Given the description of an element on the screen output the (x, y) to click on. 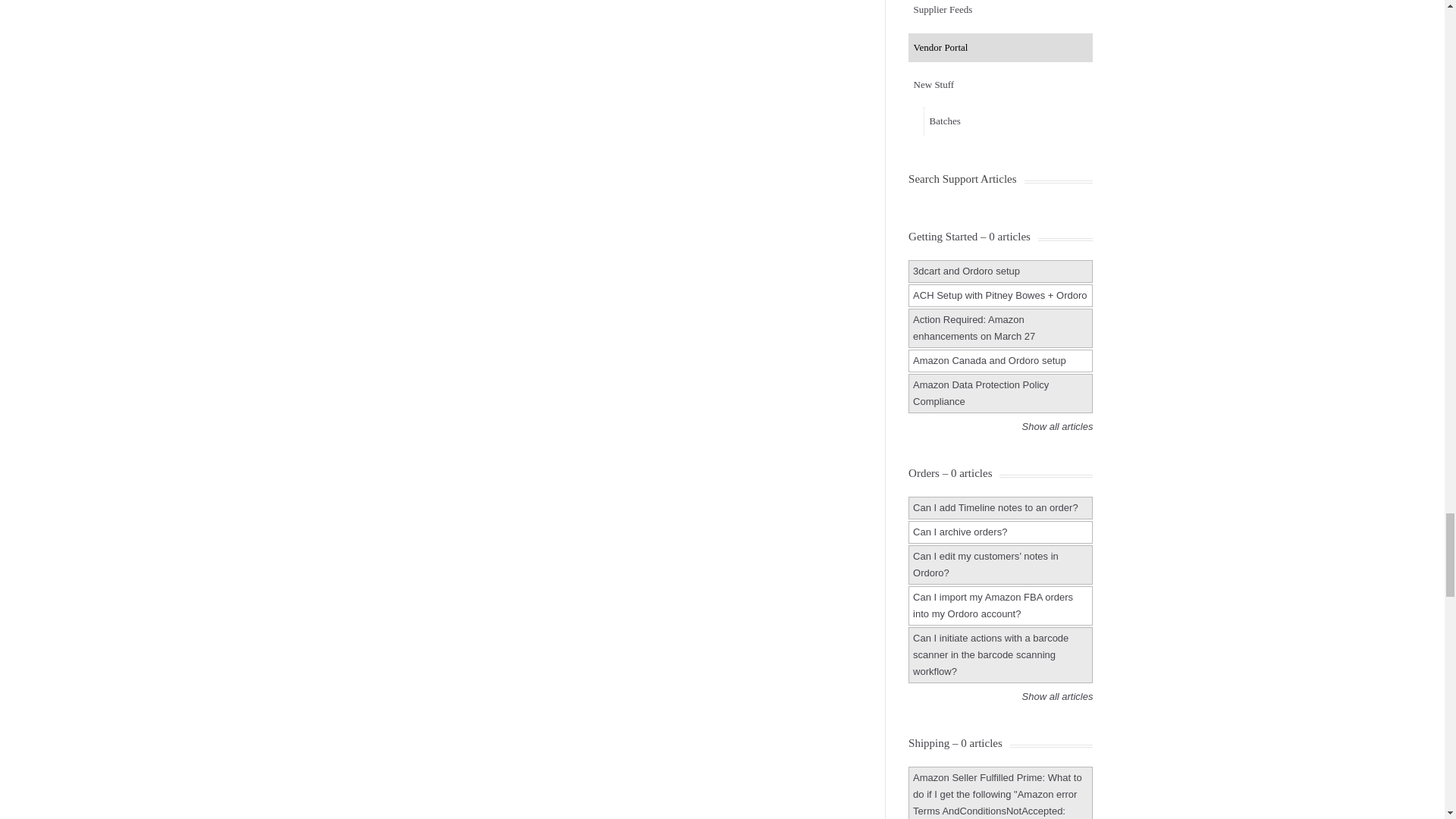
Permalink to: Amazon Data Protection Policy Compliance (980, 393)
Permalink to: Can I add Timeline notes to an order? (995, 507)
Permalink to: Can I archive orders? (959, 531)
Permalink to: Amazon Canada and Ordoro setup (988, 360)
Permalink to: 3dcart and Ordoro setup (966, 270)
